Given the description of an element on the screen output the (x, y) to click on. 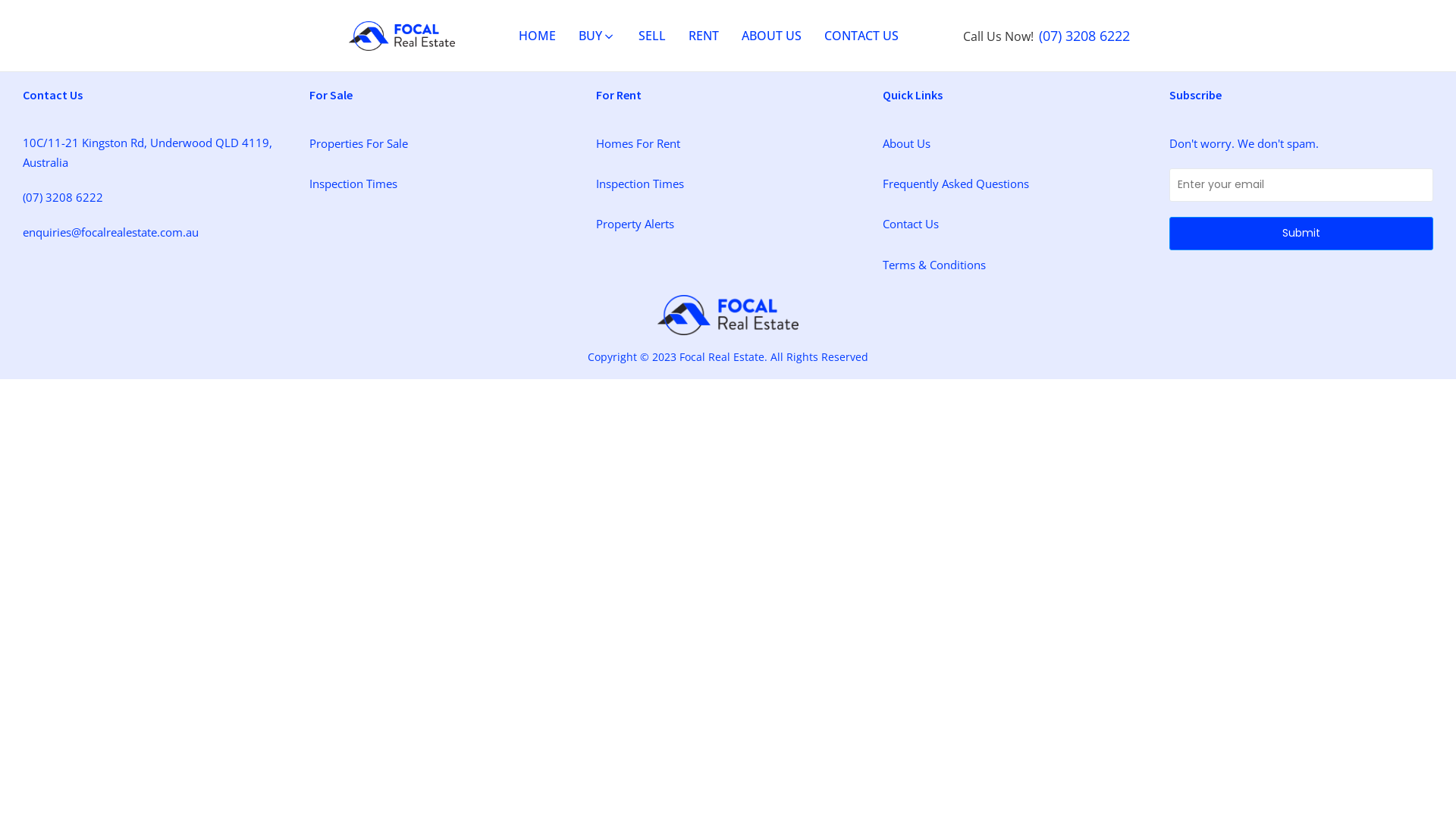
Properties For Sale Element type: text (358, 143)
Frequently Asked Questions Element type: text (955, 183)
(07) 3208 6222 Element type: text (1083, 35)
Property Alerts Element type: text (635, 223)
Inspection Times Element type: text (353, 183)
SELL Element type: text (652, 35)
BUY Element type: text (597, 36)
(07) 3208 6222 Element type: text (62, 197)
enquiries@focalrealestate.com.au Element type: text (110, 231)
HOME Element type: text (537, 35)
Inspection Times Element type: text (640, 183)
CONTACT US Element type: text (861, 35)
Terms & Conditions Element type: text (933, 264)
10C/11-21 Kingston Rd, Underwood QLD 4119, Australia Element type: text (154, 152)
About Us Element type: text (906, 143)
Homes For Rent Element type: text (638, 143)
ABOUT US Element type: text (771, 35)
Contact Us Element type: text (910, 223)
Submit Element type: text (1301, 233)
RENT Element type: text (703, 35)
